Given the description of an element on the screen output the (x, y) to click on. 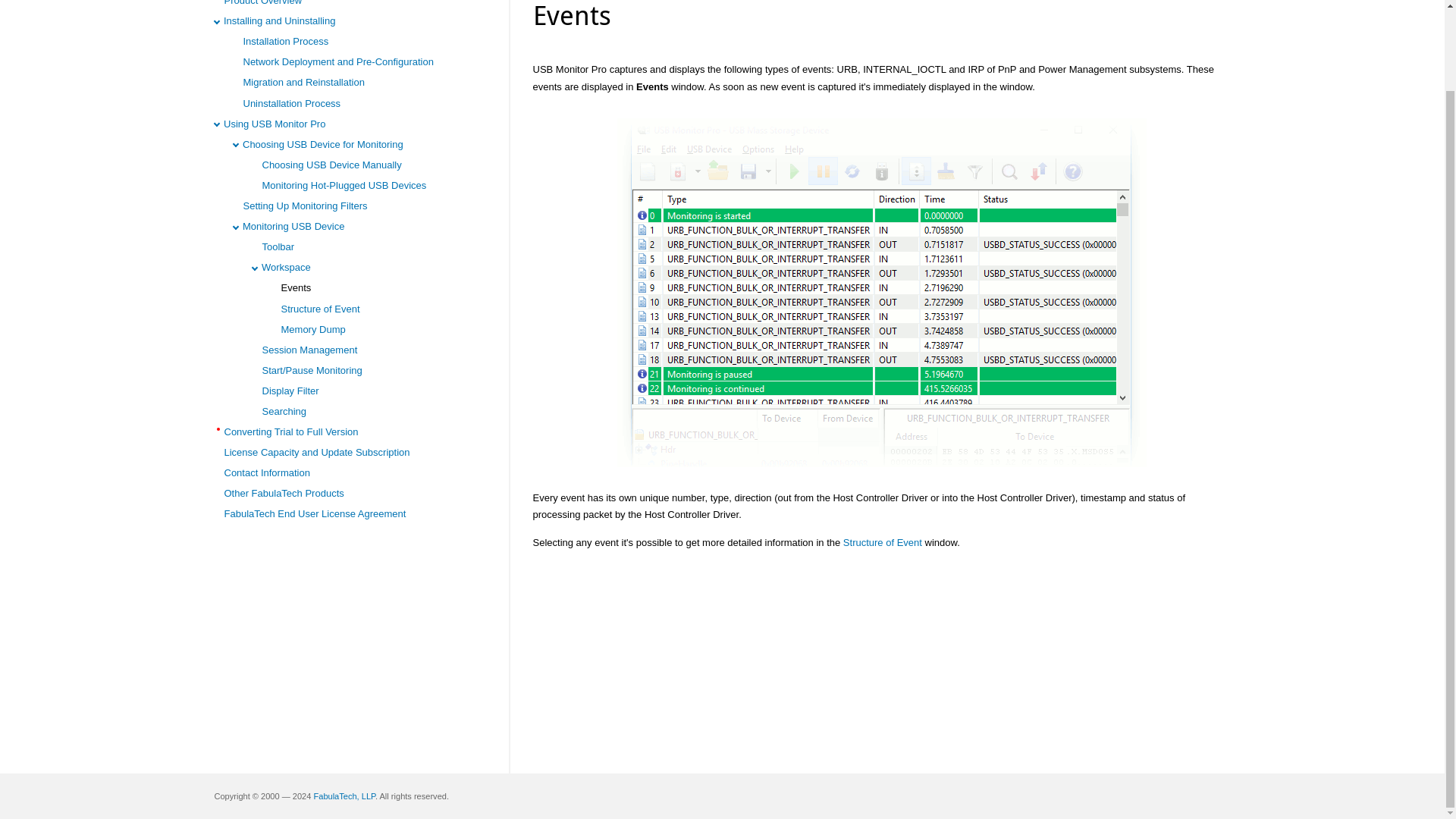
Session Management (310, 349)
Setting Up Monitoring Filters (304, 205)
FabulaTech, LLP (343, 795)
Network Deployment and Pre-Configuration (337, 61)
Converting Trial to Full Version (291, 431)
Memory Dump (313, 328)
License Capacity and Update Subscription (317, 451)
Events (296, 287)
FabulaTech End User License Agreement (315, 513)
Structure of Event (882, 542)
Product Overview (263, 2)
Contact Information (267, 472)
Toolbar (278, 246)
Display Filter (290, 390)
Other FabulaTech Products (283, 492)
